Given the description of an element on the screen output the (x, y) to click on. 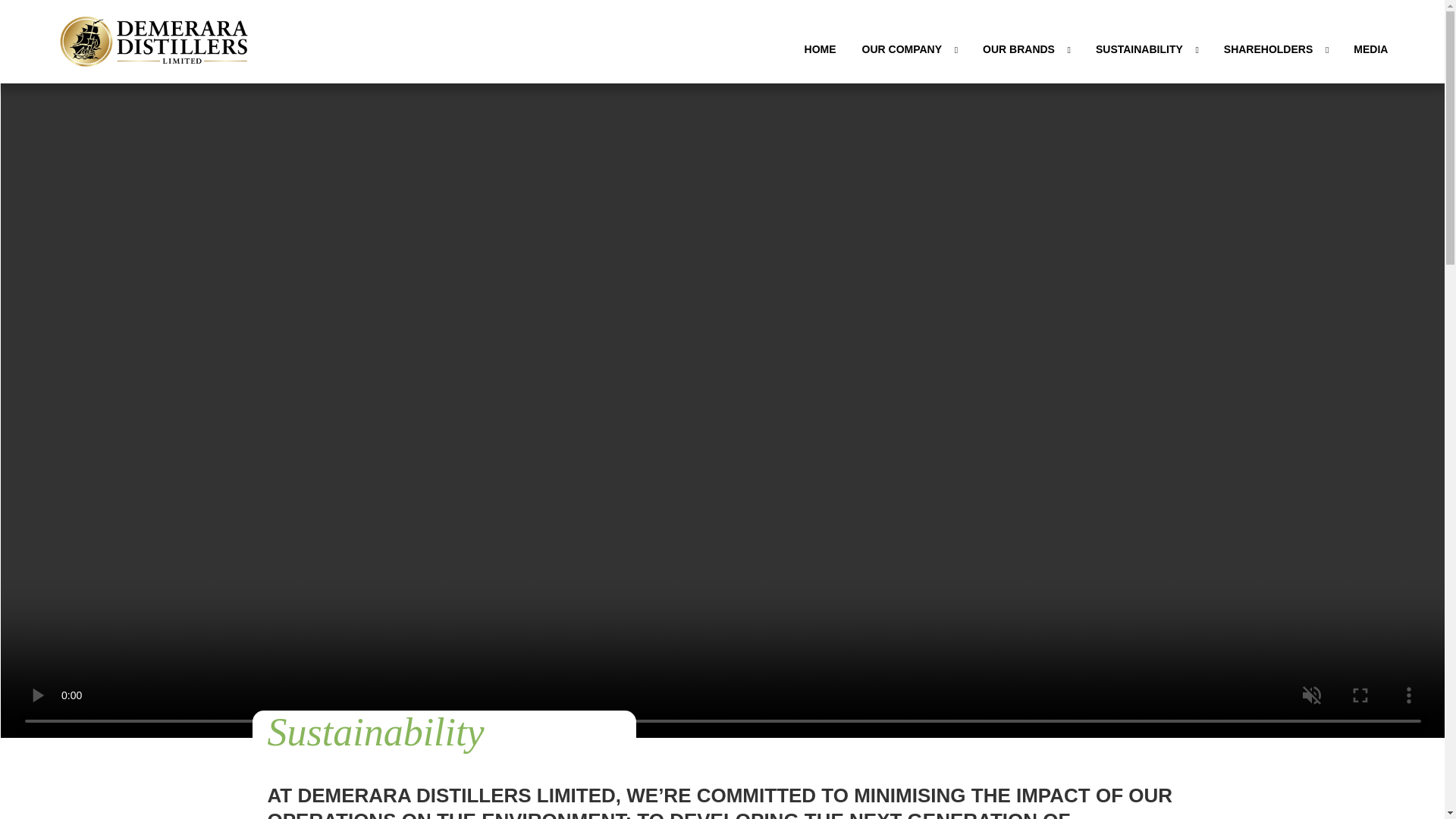
SHAREHOLDERS (1275, 49)
OUR COMPANY (909, 49)
SUSTAINABILITY (1147, 49)
MEDIA (1370, 49)
HOME (820, 49)
OUR BRANDS (1026, 49)
